Given the description of an element on the screen output the (x, y) to click on. 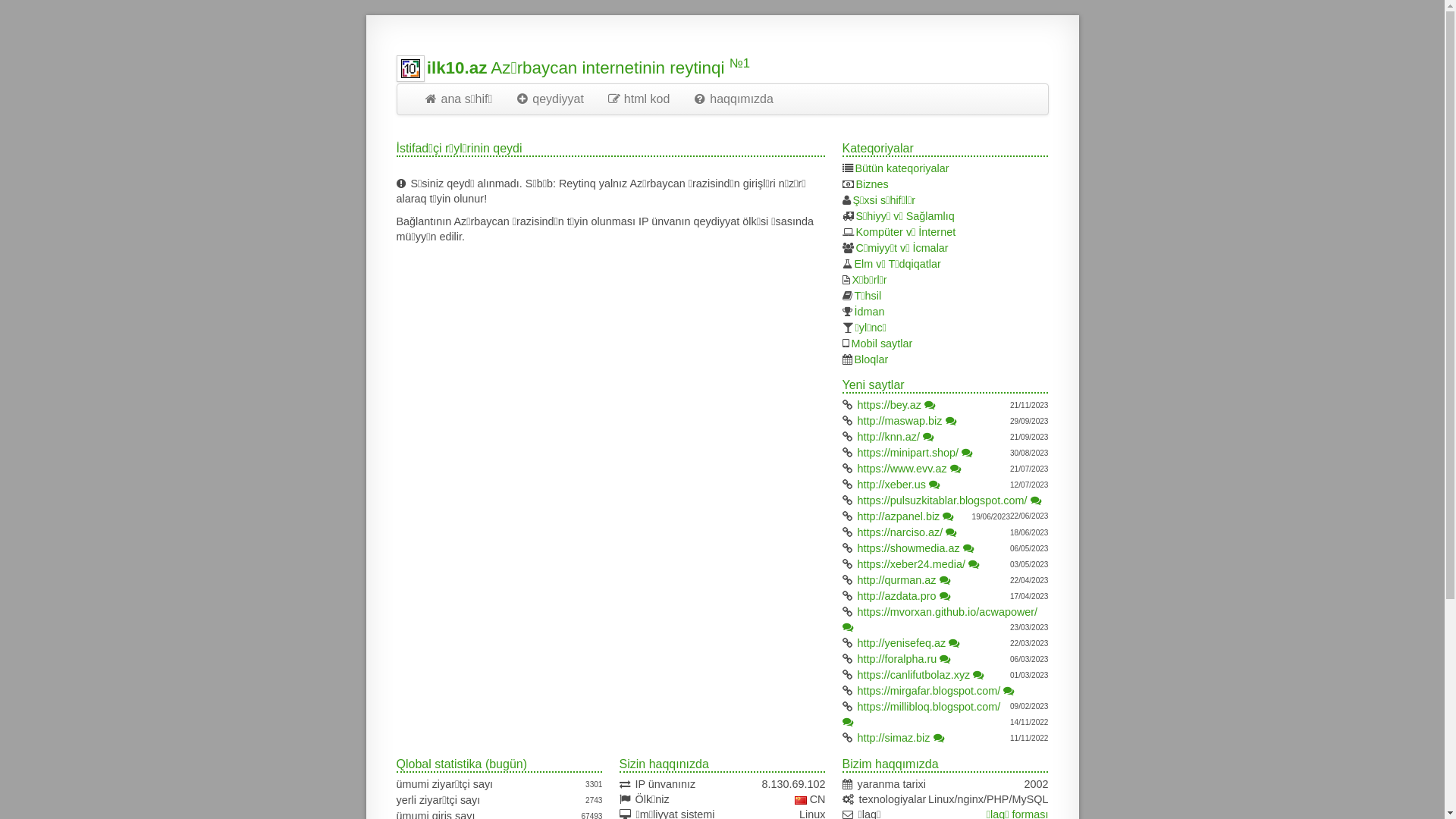
https://narciso.az/ Element type: text (900, 532)
Mobil saytlar Element type: text (882, 343)
http://knn.az/ Element type: text (888, 436)
https://mvorxan.github.io/acwapower/ Element type: text (947, 611)
qeydiyyat Element type: text (549, 99)
html kod Element type: text (637, 99)
http://azdata.pro Element type: text (896, 595)
http://foralpha.ru Element type: text (897, 658)
https://canlifutbolaz.xyz Element type: text (913, 674)
http://xeber.us Element type: text (891, 484)
http://simaz.biz Element type: text (893, 737)
http://qurman.az Element type: text (896, 580)
https://www.evv.az Element type: text (902, 468)
http://yenisefeq.az Element type: text (901, 643)
https://millibloq.blogspot.com/ Element type: text (929, 706)
https://showmedia.az Element type: text (908, 548)
https://minipart.shop/ Element type: text (908, 452)
https://xeber24.media/ Element type: text (911, 564)
https://pulsuzkitablar.blogspot.com/ Element type: text (942, 500)
Biznes Element type: text (872, 184)
https://mirgafar.blogspot.com/ Element type: text (929, 690)
https://bey.az Element type: text (889, 404)
http://maswap.biz Element type: text (899, 420)
Bloqlar Element type: text (871, 359)
http://azpanel.biz Element type: text (898, 516)
